Given the description of an element on the screen output the (x, y) to click on. 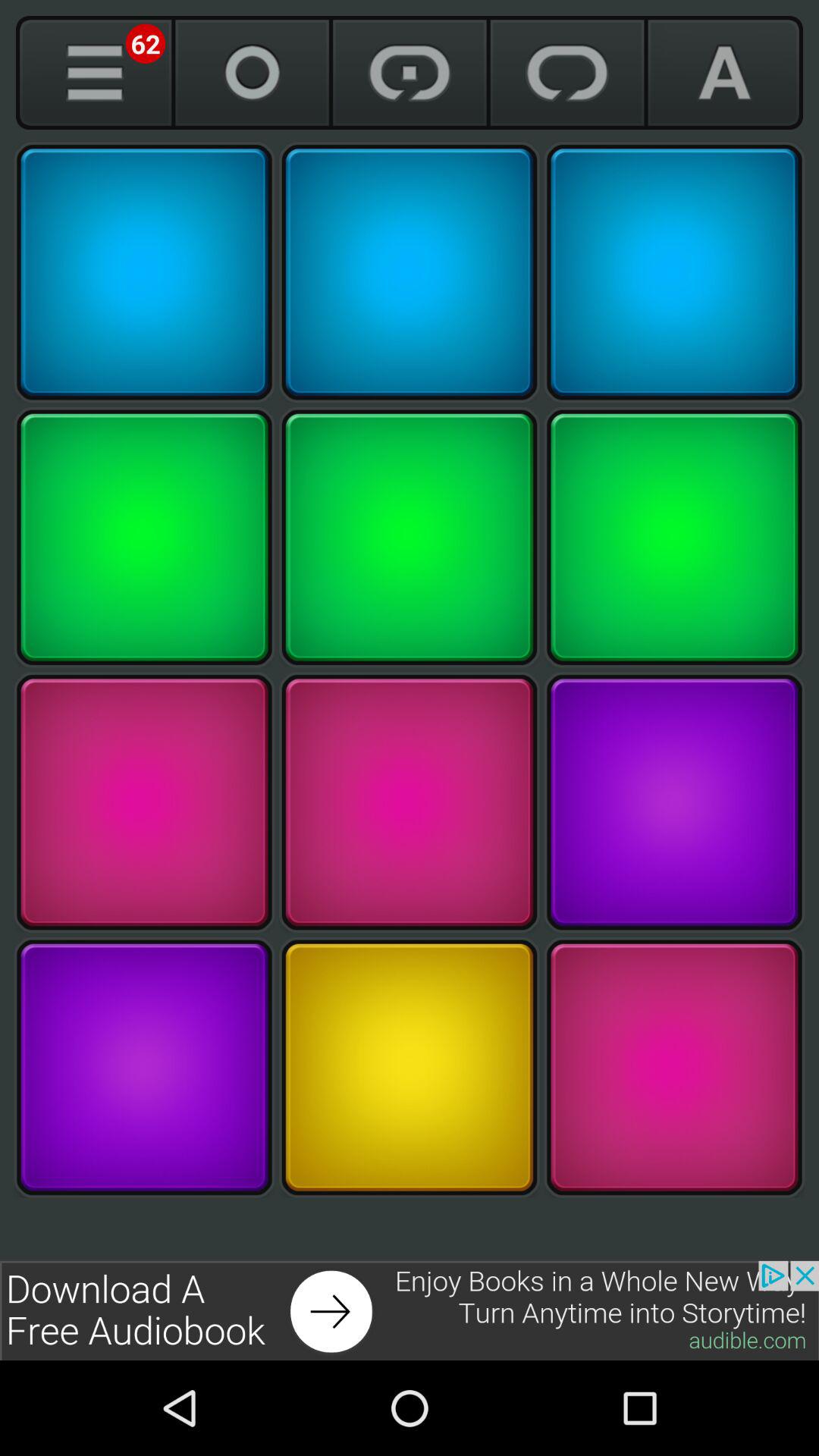
select box in second row of first column (144, 537)
